Given the description of an element on the screen output the (x, y) to click on. 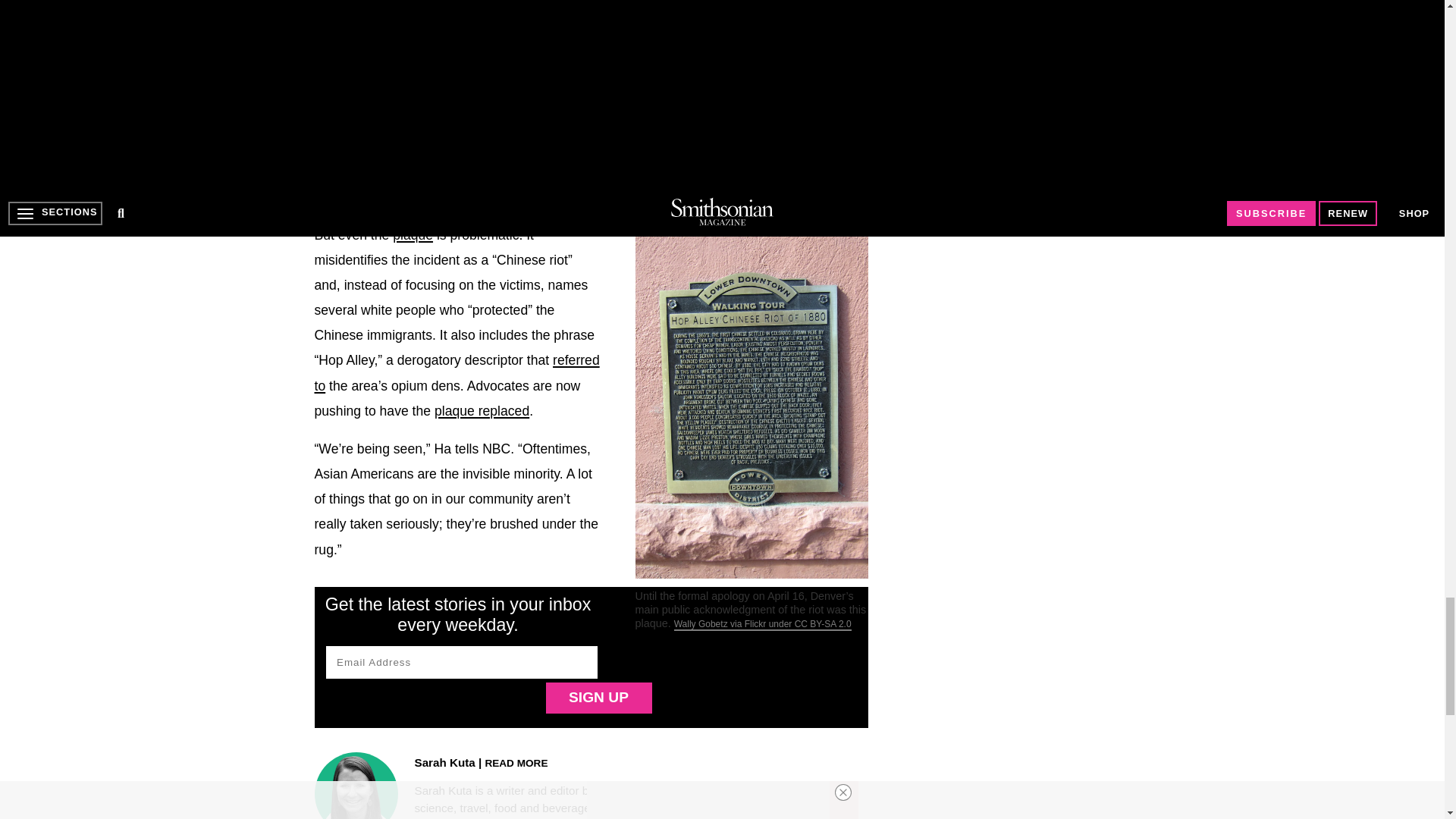
Read more from this author (515, 762)
Sign Up (599, 697)
